Given the description of an element on the screen output the (x, y) to click on. 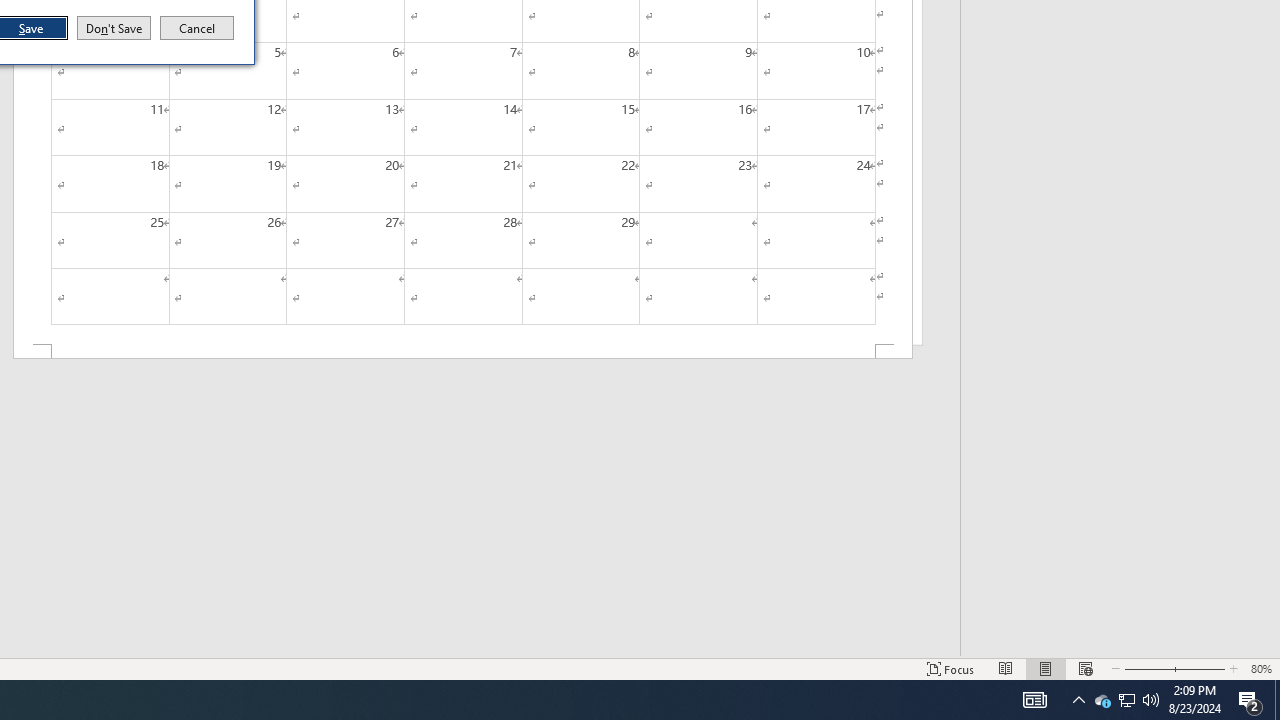
Notification Chevron (1078, 699)
Q2790: 100% (1151, 699)
Action Center, 2 new notifications (1250, 699)
Footer -Section 2- (1126, 699)
Cancel (462, 351)
Don't Save (197, 27)
AutomationID: 4105 (1102, 699)
